Given the description of an element on the screen output the (x, y) to click on. 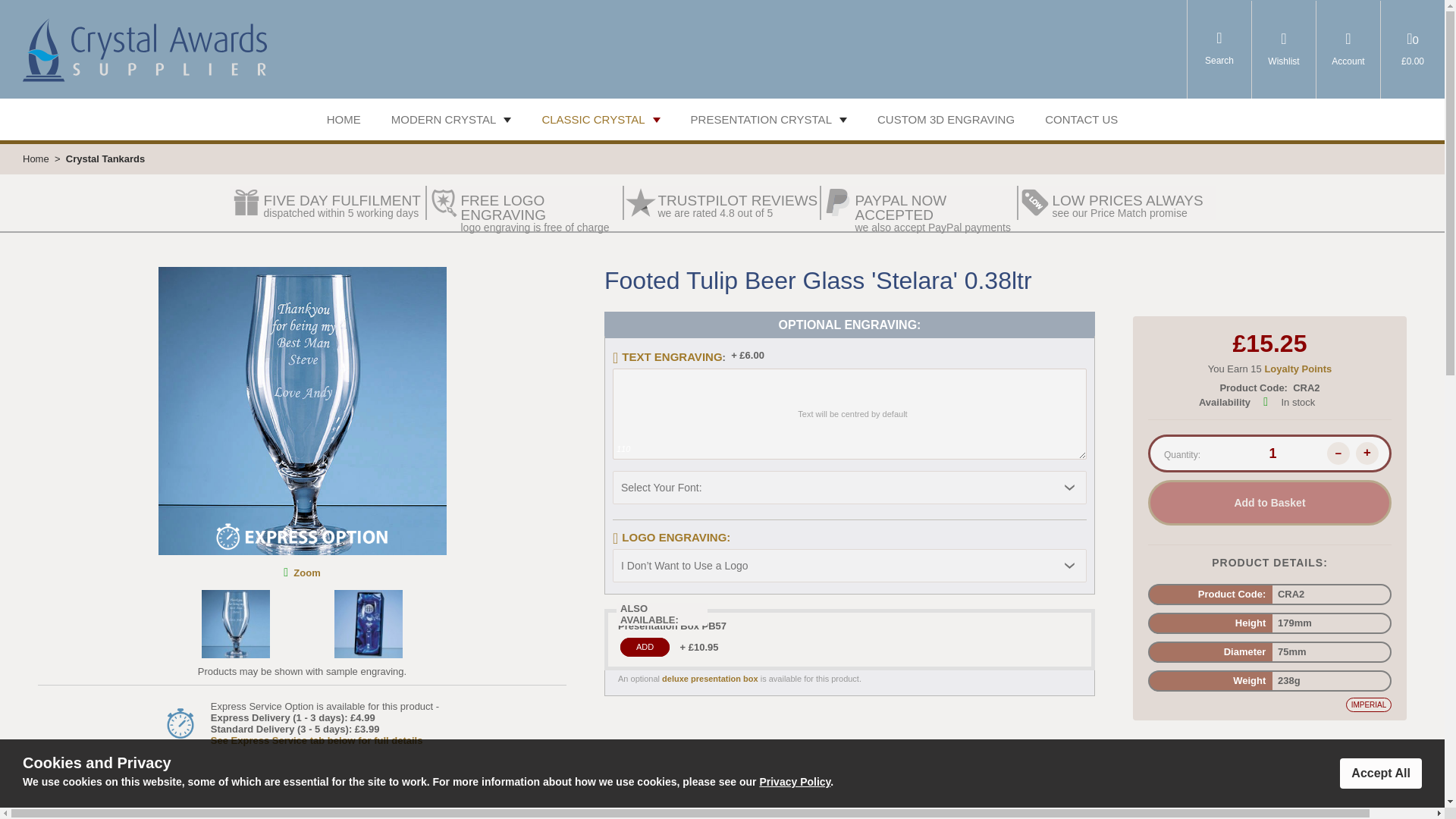
Loyalty Points (1297, 368)
Express Service (867, 816)
1 (1269, 453)
1 (644, 647)
Footed Tulip Beer Glass 'Stelara' 0.38ltr (301, 410)
deluxe presentation box (1133, 206)
Request a Quote (710, 678)
Zoom (675, 816)
Modern Crystal Awards (936, 213)
Description (307, 572)
See Express Service tab below for full details (738, 206)
Fonts (443, 119)
